Given the description of an element on the screen output the (x, y) to click on. 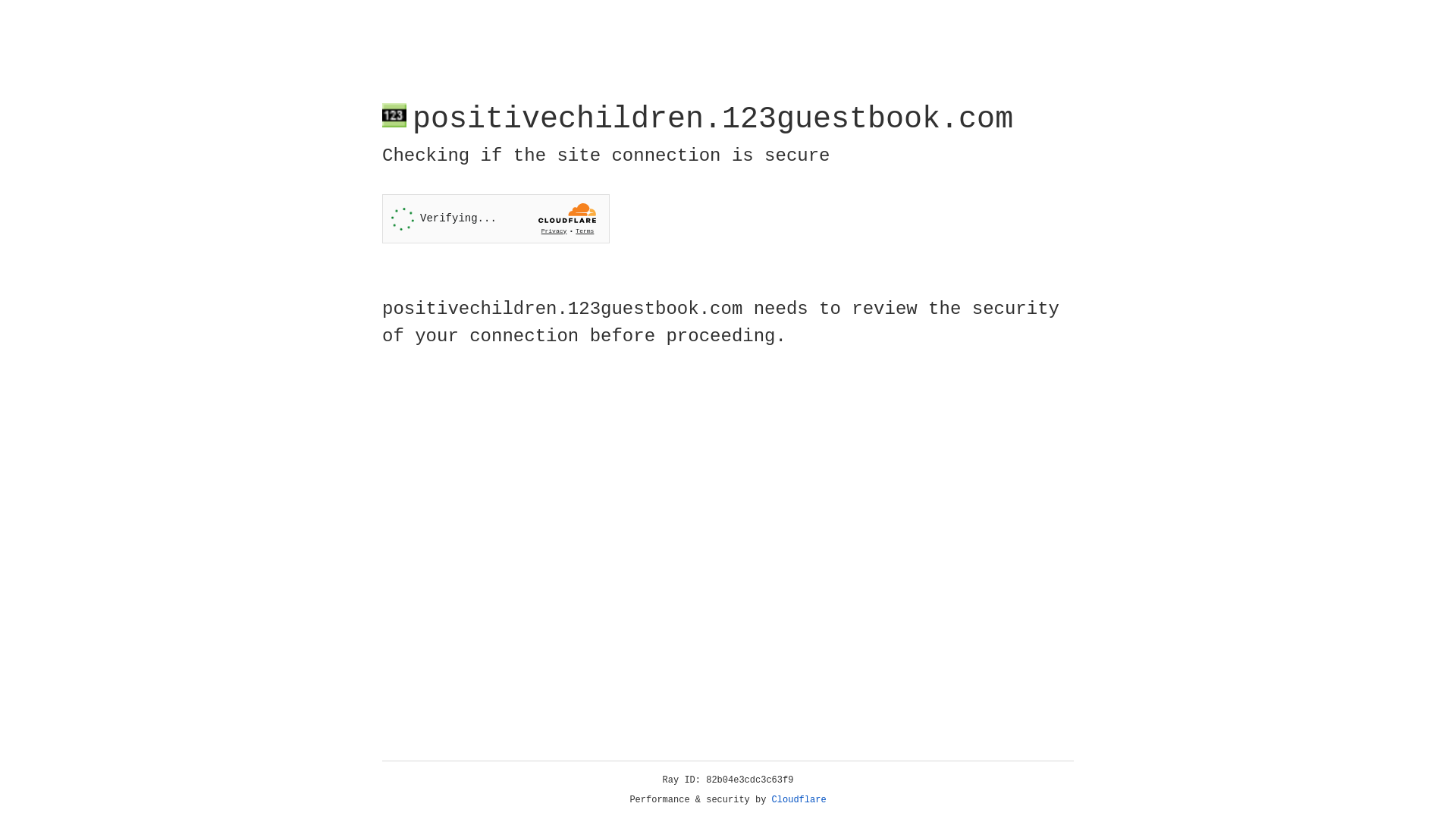
Cloudflare Element type: text (798, 799)
Widget containing a Cloudflare security challenge Element type: hover (495, 218)
